Given the description of an element on the screen output the (x, y) to click on. 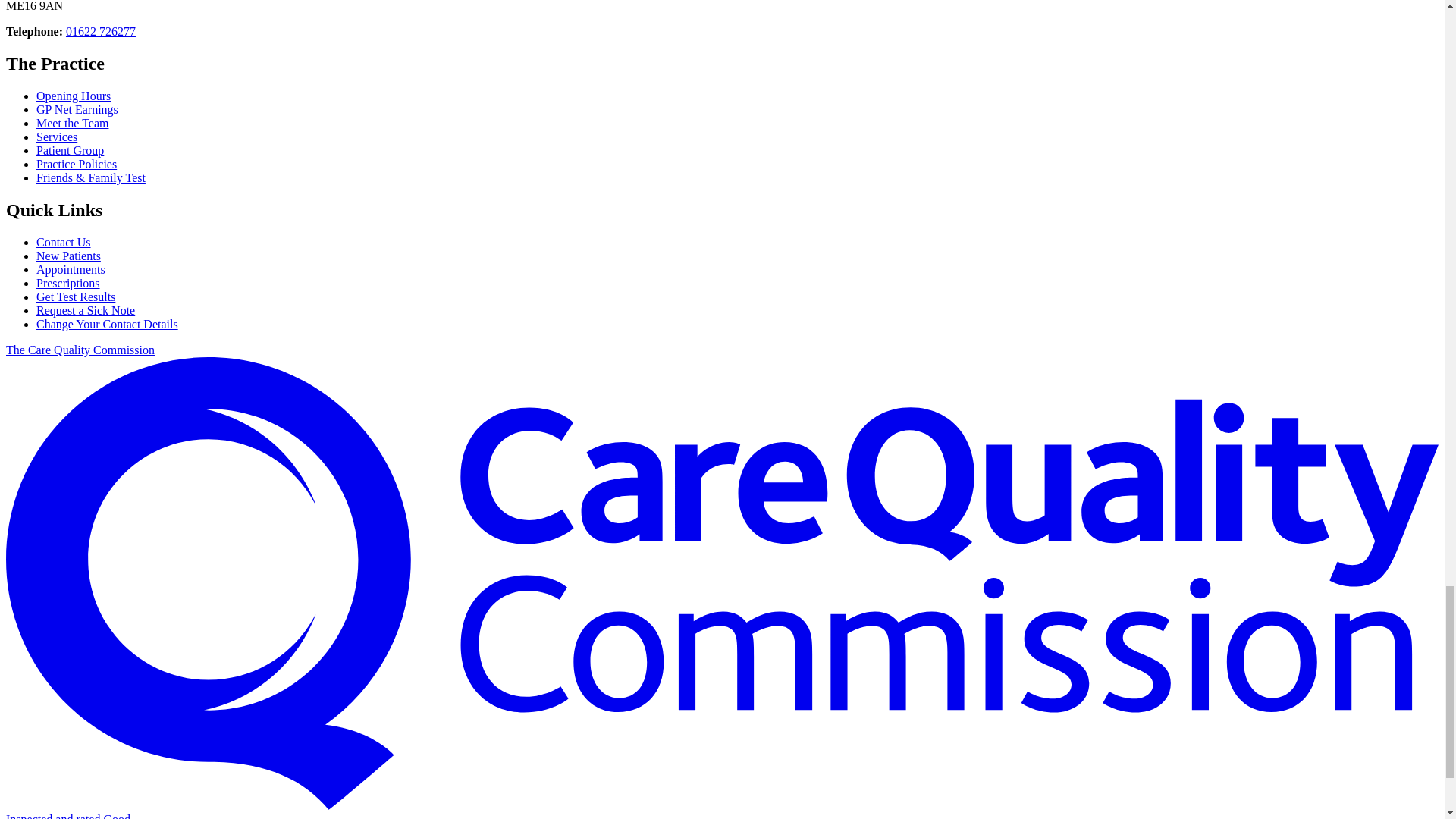
Patient Group (69, 150)
Practice Policies (76, 164)
Request a Sick Note (85, 309)
Get Test Results (75, 296)
New Patients (68, 255)
Opening Hours (73, 95)
Change Your Contact Details (106, 323)
Prescriptions (68, 282)
Meet the Team (71, 123)
Contact Us (63, 241)
